Given the description of an element on the screen output the (x, y) to click on. 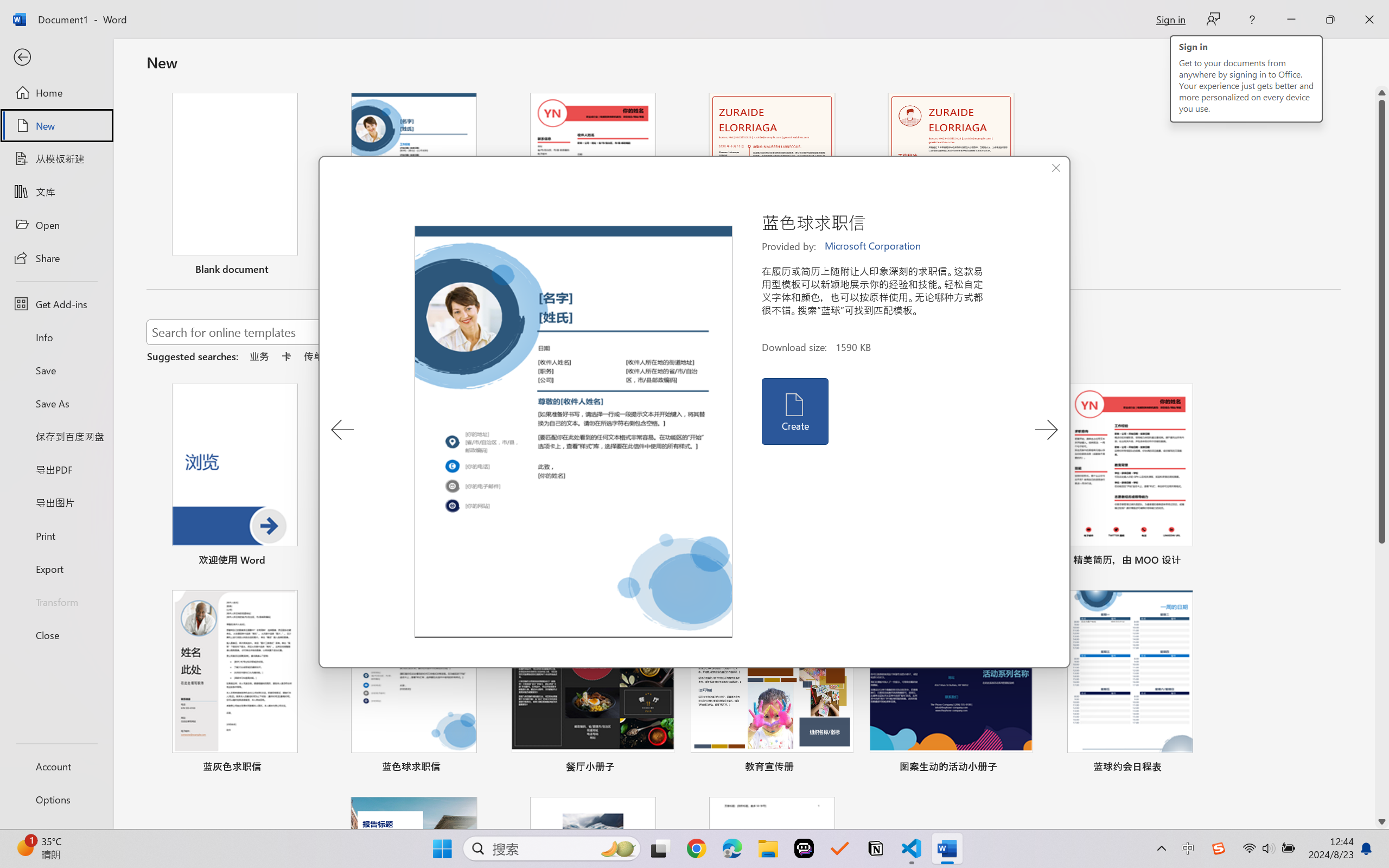
New (56, 125)
Create (794, 411)
Print (56, 535)
Get Add-ins (56, 303)
Info (56, 337)
Unpin from list (1022, 270)
